Given the description of an element on the screen output the (x, y) to click on. 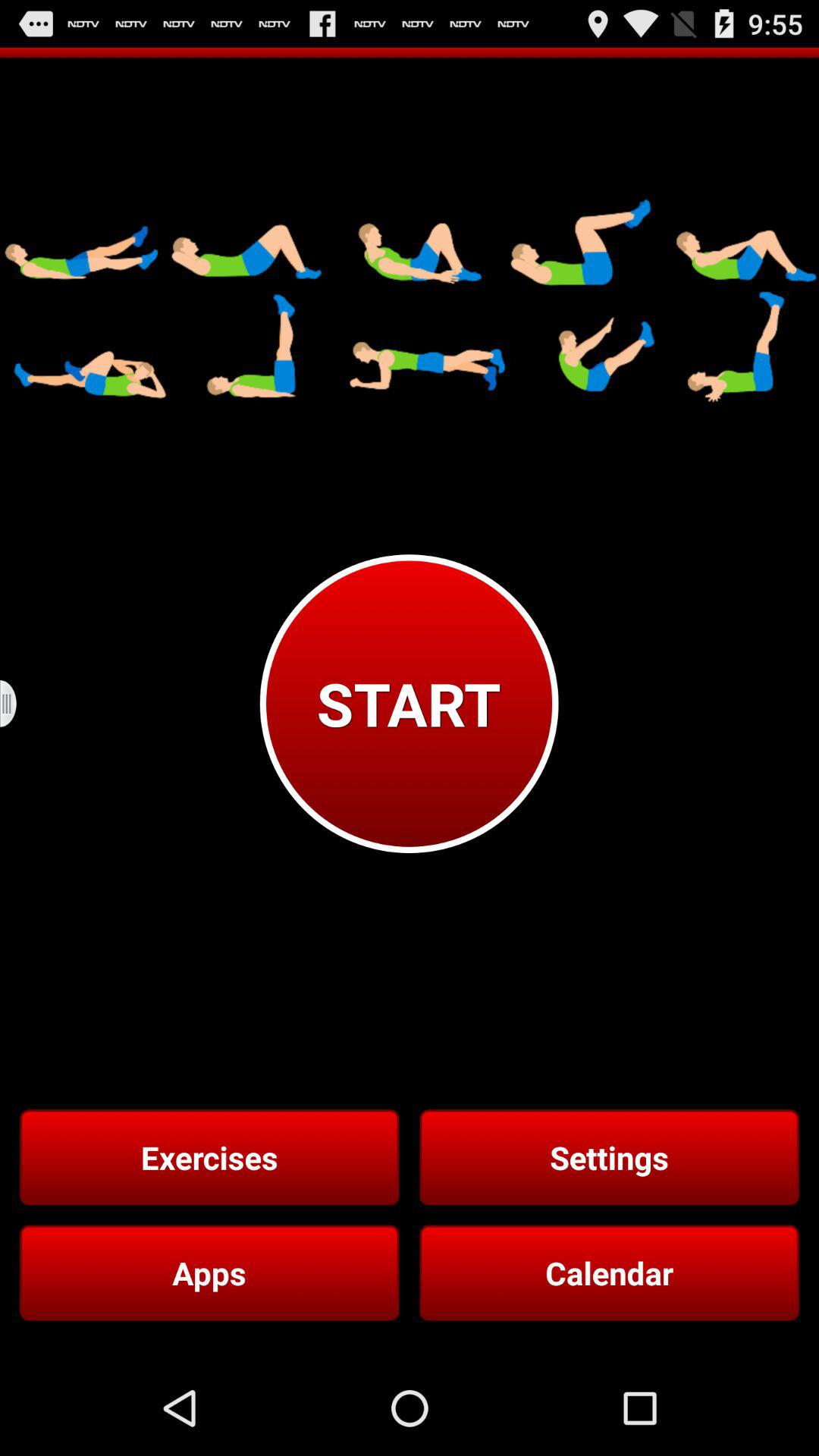
press icon next to start (18, 703)
